Given the description of an element on the screen output the (x, y) to click on. 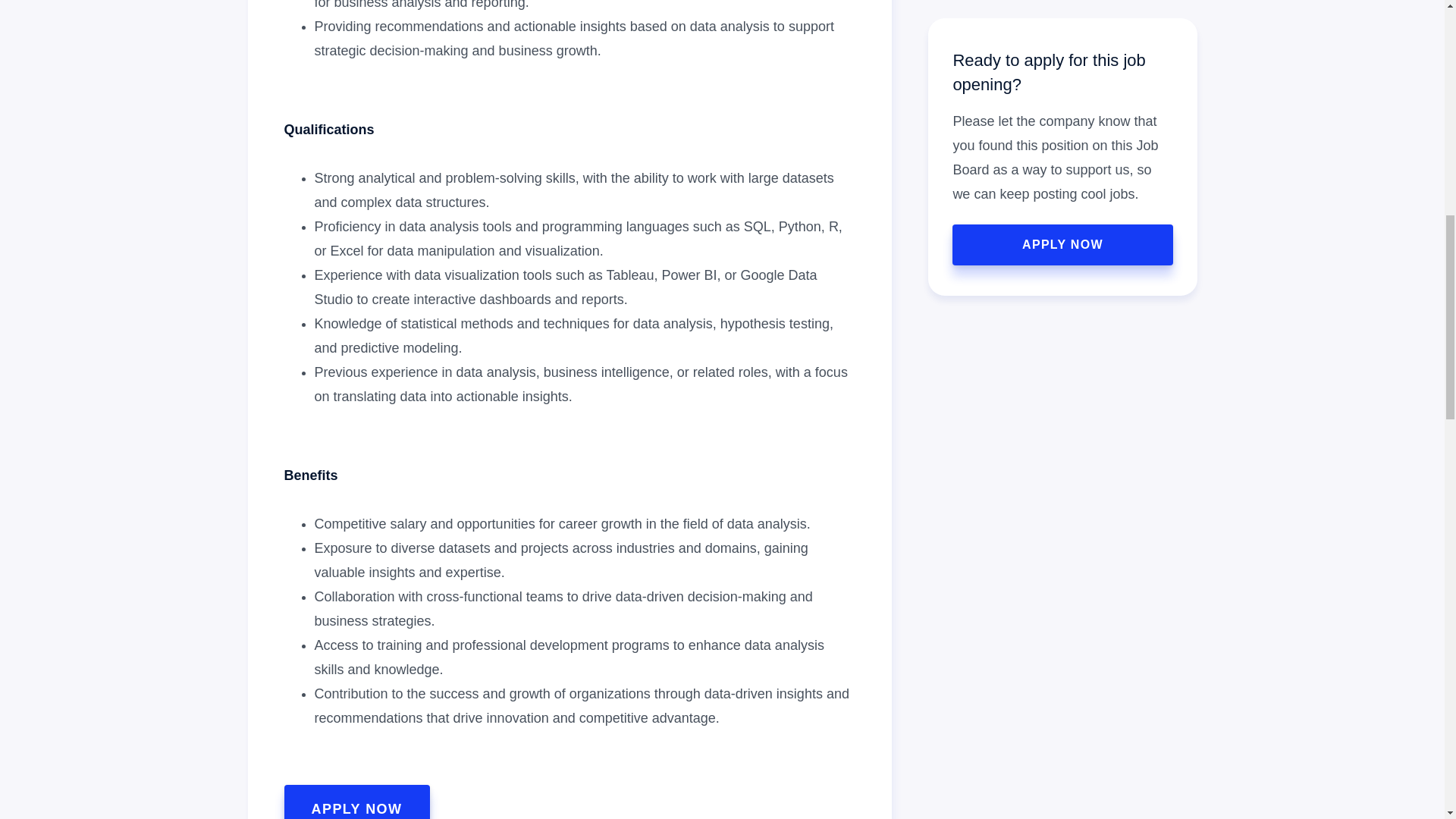
APPLY NOW (356, 801)
